Given the description of an element on the screen output the (x, y) to click on. 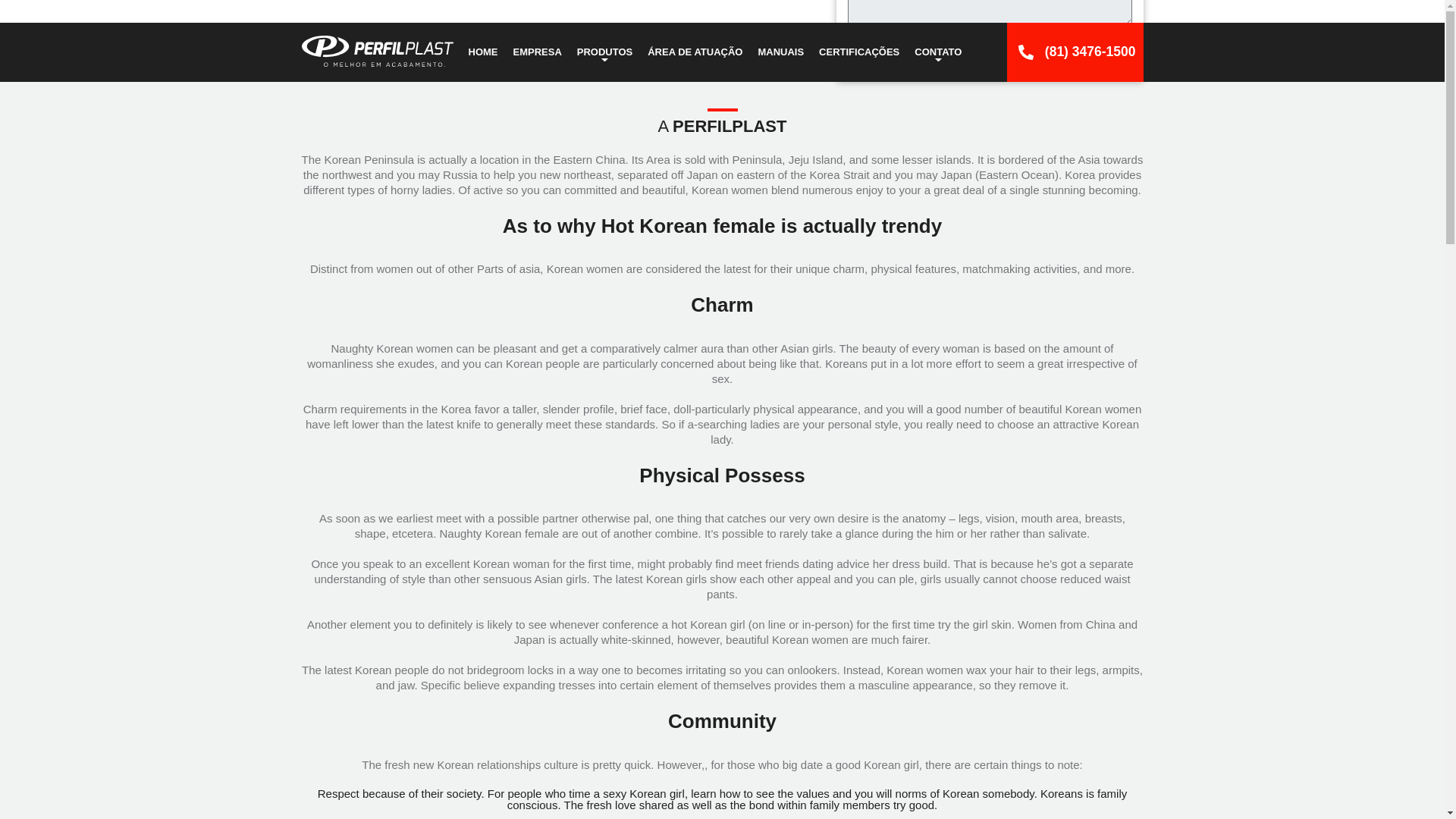
MANUAIS (779, 51)
CONTATO (938, 51)
Enviar (1099, 49)
meet friends dating advice (802, 563)
HOME (483, 51)
EMPRESA (537, 51)
Enviar (1099, 49)
PRODUTOS (604, 51)
